Given the description of an element on the screen output the (x, y) to click on. 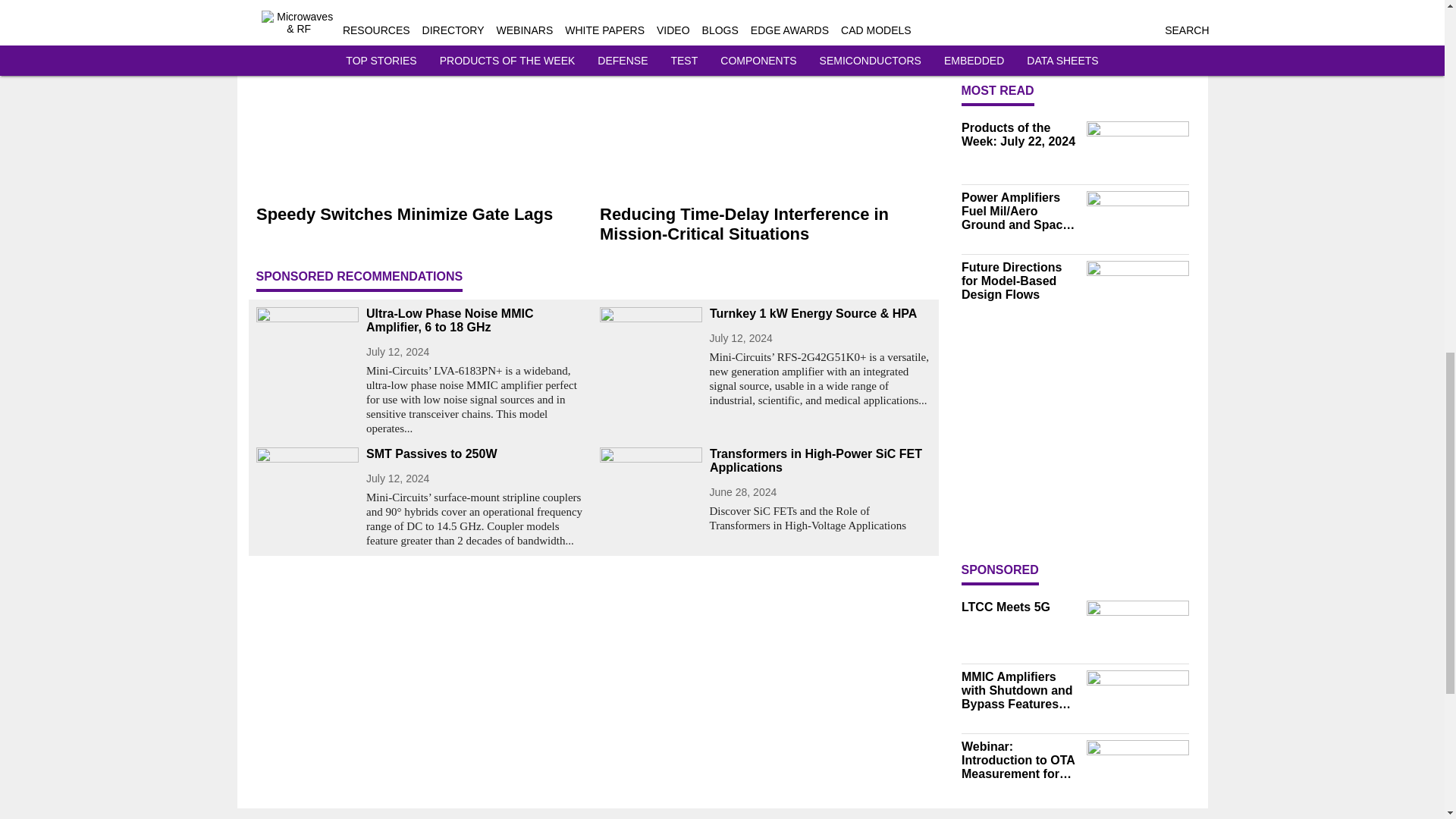
Transformers in High-Power SiC FET Applications (820, 461)
Speedy Switches Minimize Gate Lags (422, 214)
Ultra-Low Phase Noise MMIC Amplifier, 6 to 18 GHz (476, 320)
SMT Passives to 250W (476, 454)
